Given the description of an element on the screen output the (x, y) to click on. 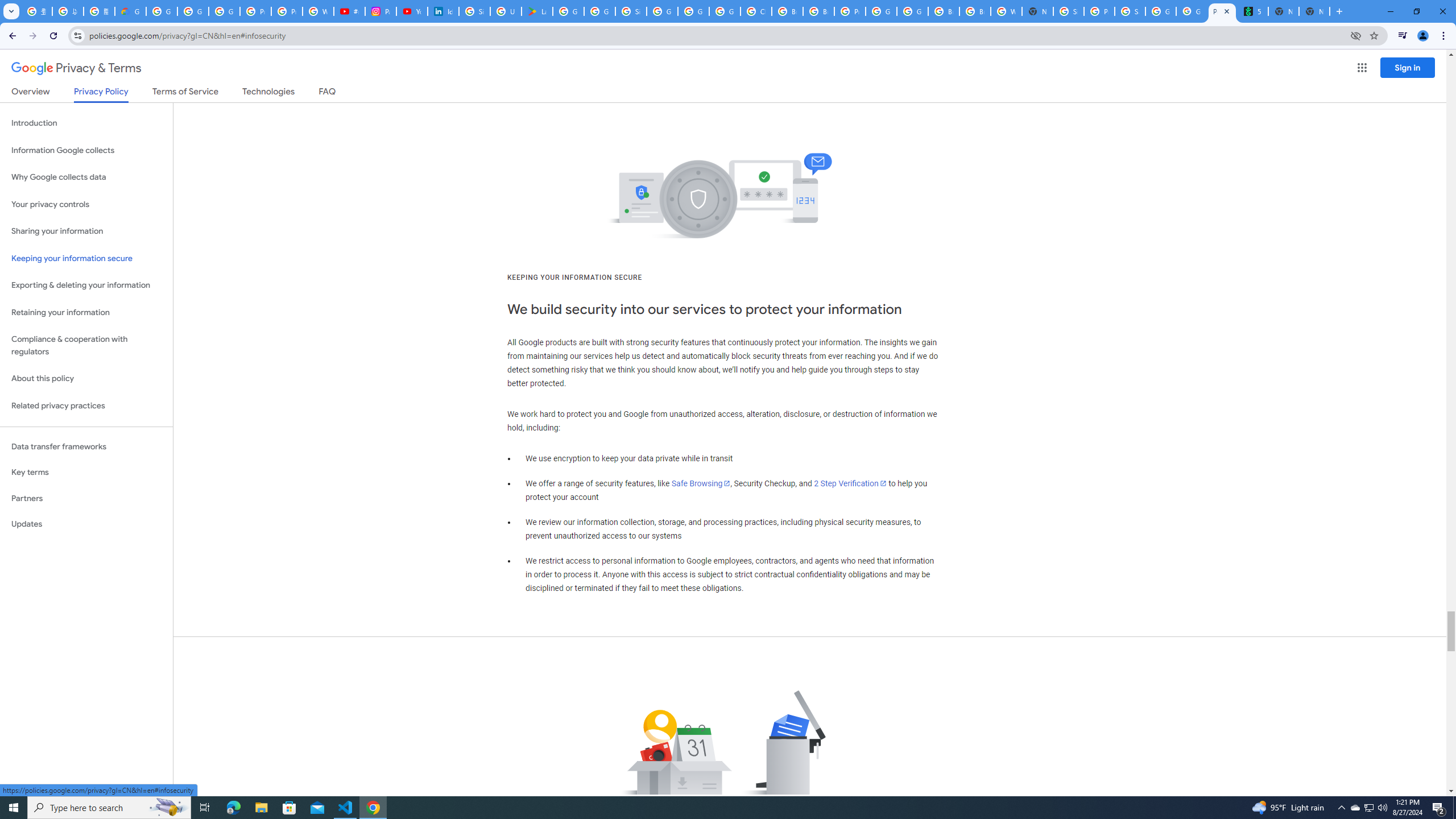
Browse Chrome as a guest - Computer - Google Chrome Help (943, 11)
Related privacy practices (86, 405)
2 Step Verification (849, 483)
Google Cloud Platform (693, 11)
New Tab (1037, 11)
Sharing your information (86, 230)
